Given the description of an element on the screen output the (x, y) to click on. 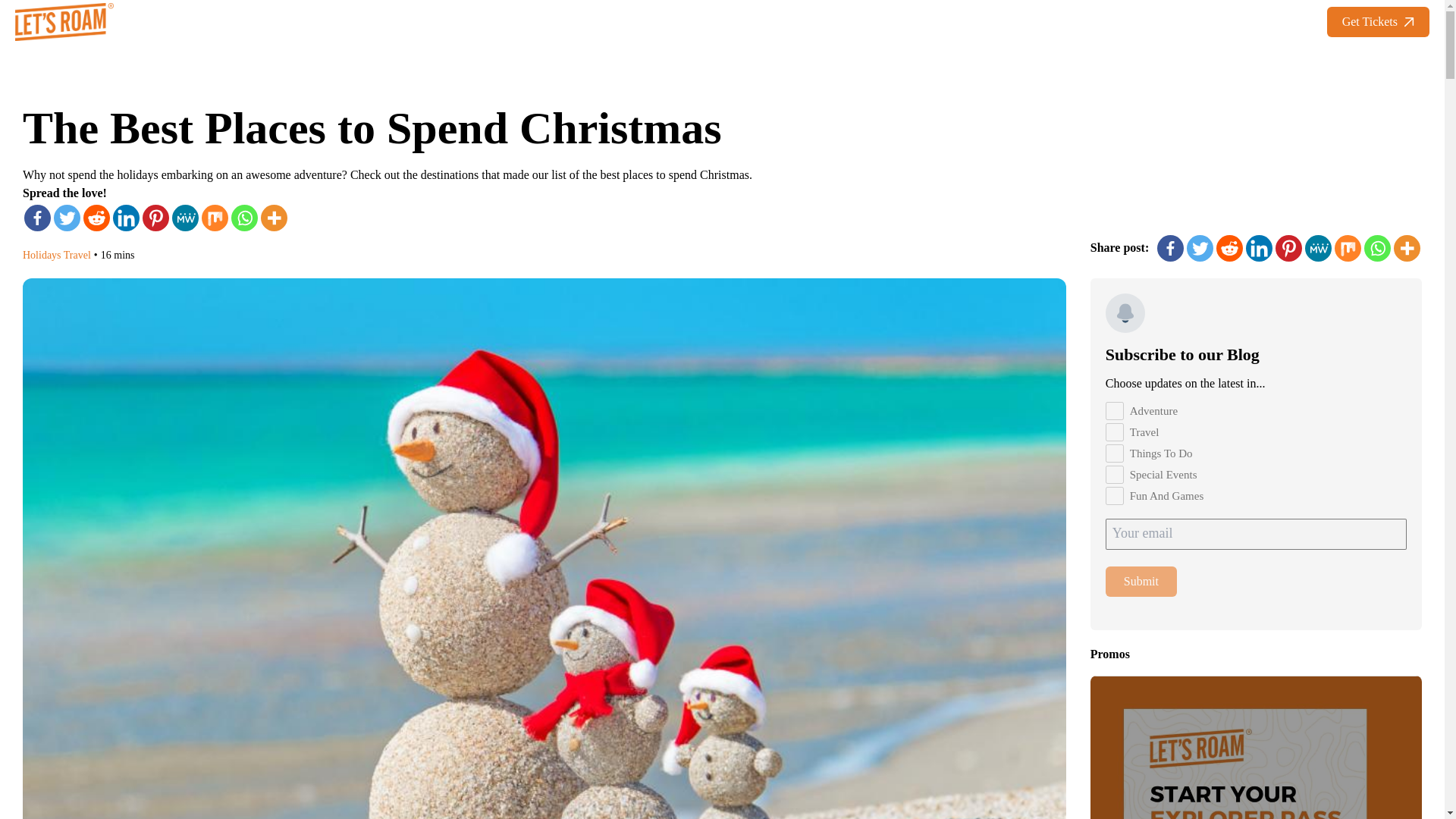
Facebook (1170, 248)
Holidays (42, 255)
Mix (215, 217)
Whatsapp (244, 217)
Reddit (96, 217)
Fun And Games (1114, 495)
Travel (1114, 432)
MeWe (184, 217)
Facebook (37, 217)
Things To Do (1114, 453)
More (273, 217)
Get Tickets (1377, 21)
Adventure (1114, 411)
Travel (77, 255)
Pinterest (155, 217)
